Given the description of an element on the screen output the (x, y) to click on. 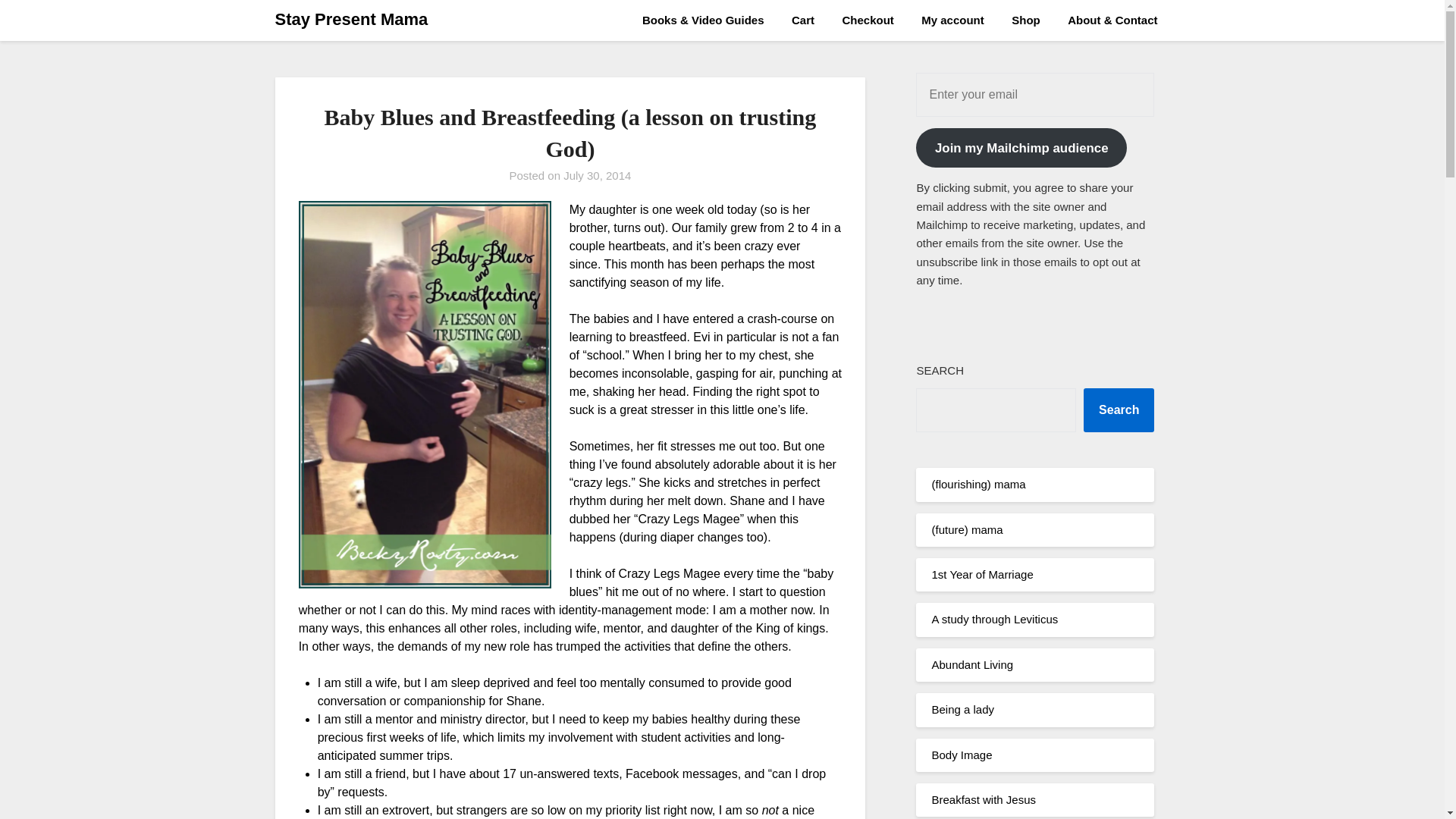
Being a lady (962, 708)
July 30, 2014 (596, 174)
Checkout (867, 20)
Shop (1025, 20)
Stay Present Mama (351, 19)
Enter your email (1034, 94)
Search (1118, 410)
1st Year of Marriage (981, 574)
Join my Mailchimp audience (1020, 147)
My account (951, 20)
